Given the description of an element on the screen output the (x, y) to click on. 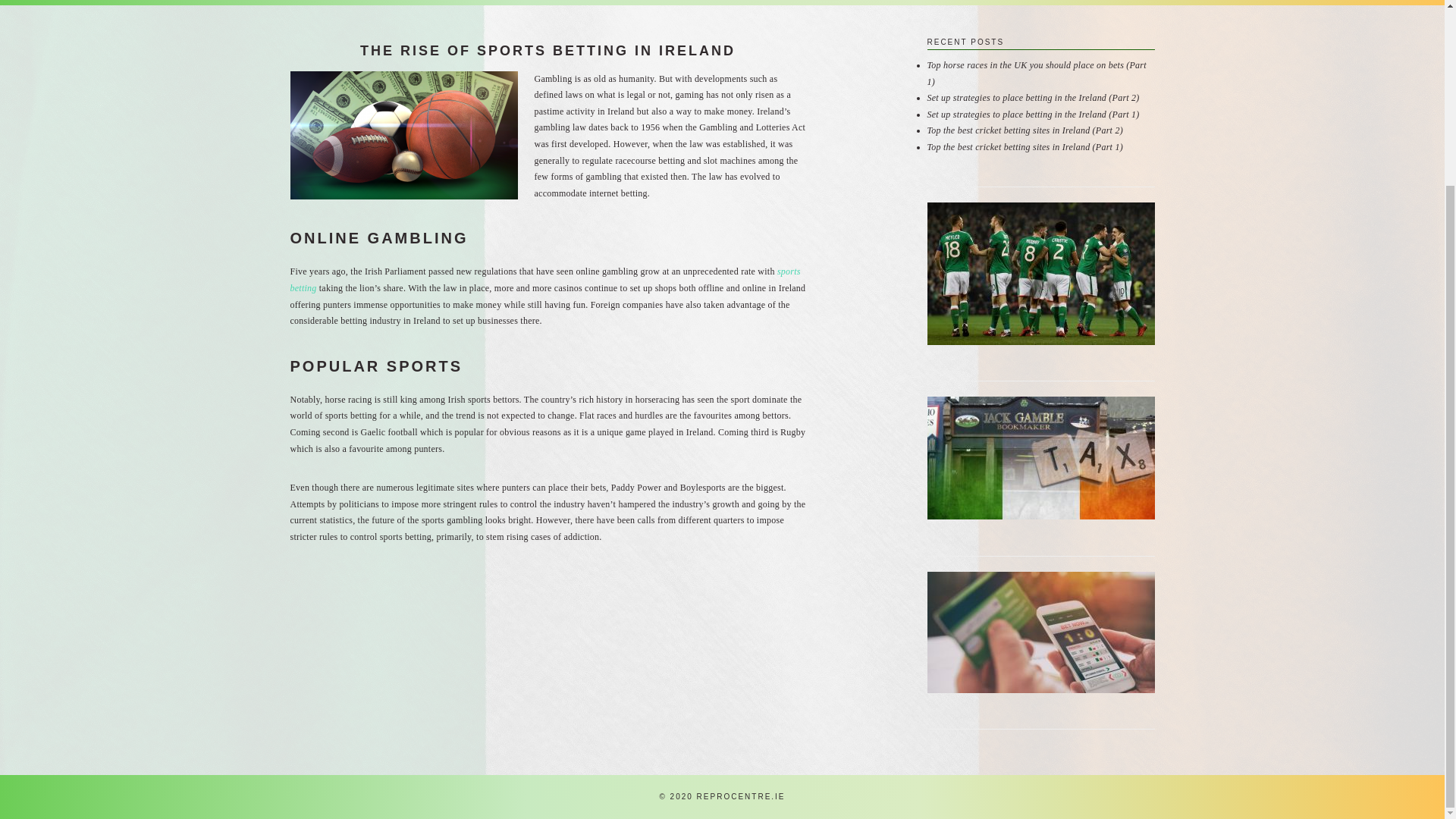
sports betting (544, 279)
